Given the description of an element on the screen output the (x, y) to click on. 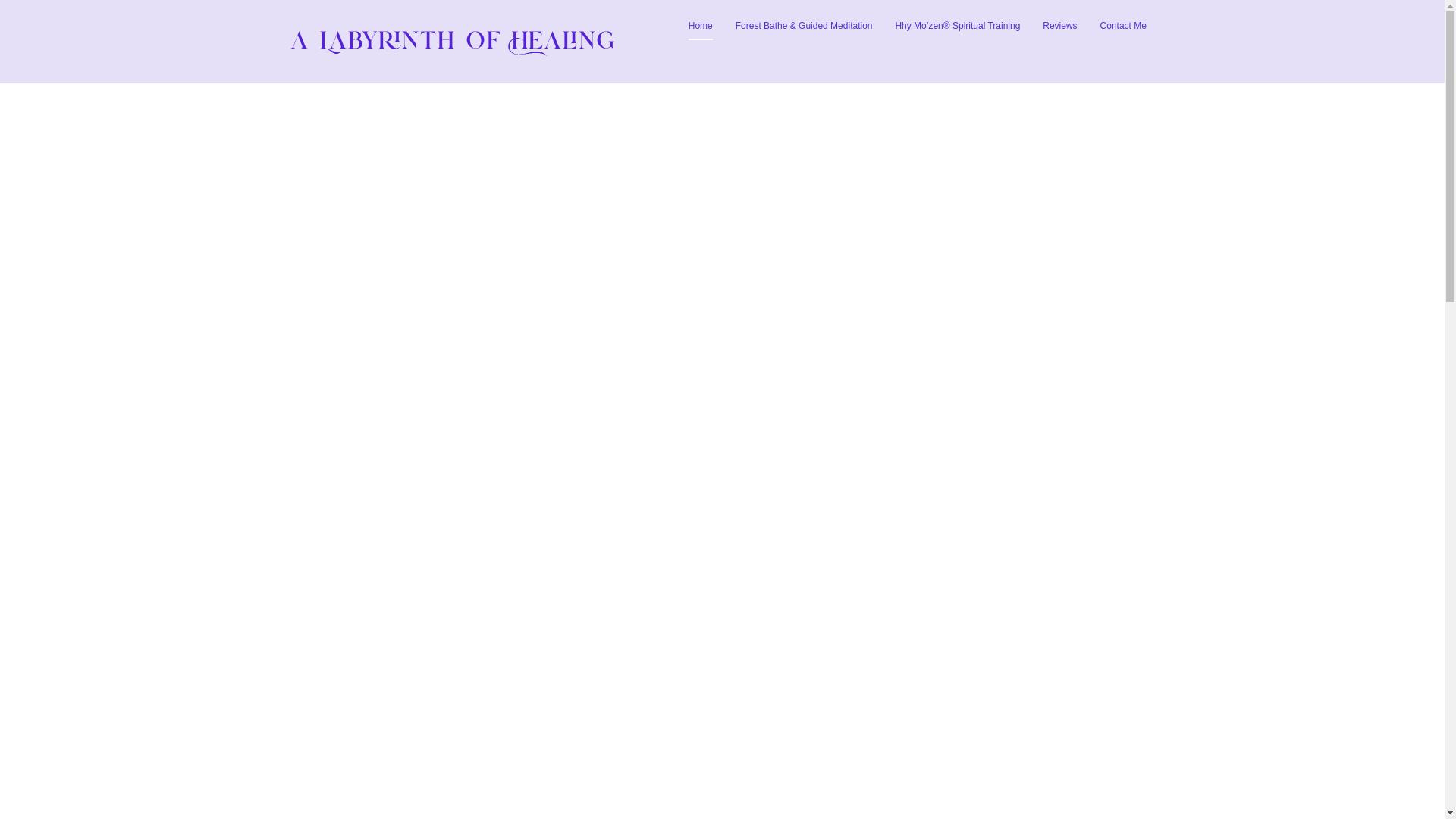
Reviews (1059, 26)
Contact Me (1123, 26)
A Labyrinth Of Healing (451, 55)
